Given the description of an element on the screen output the (x, y) to click on. 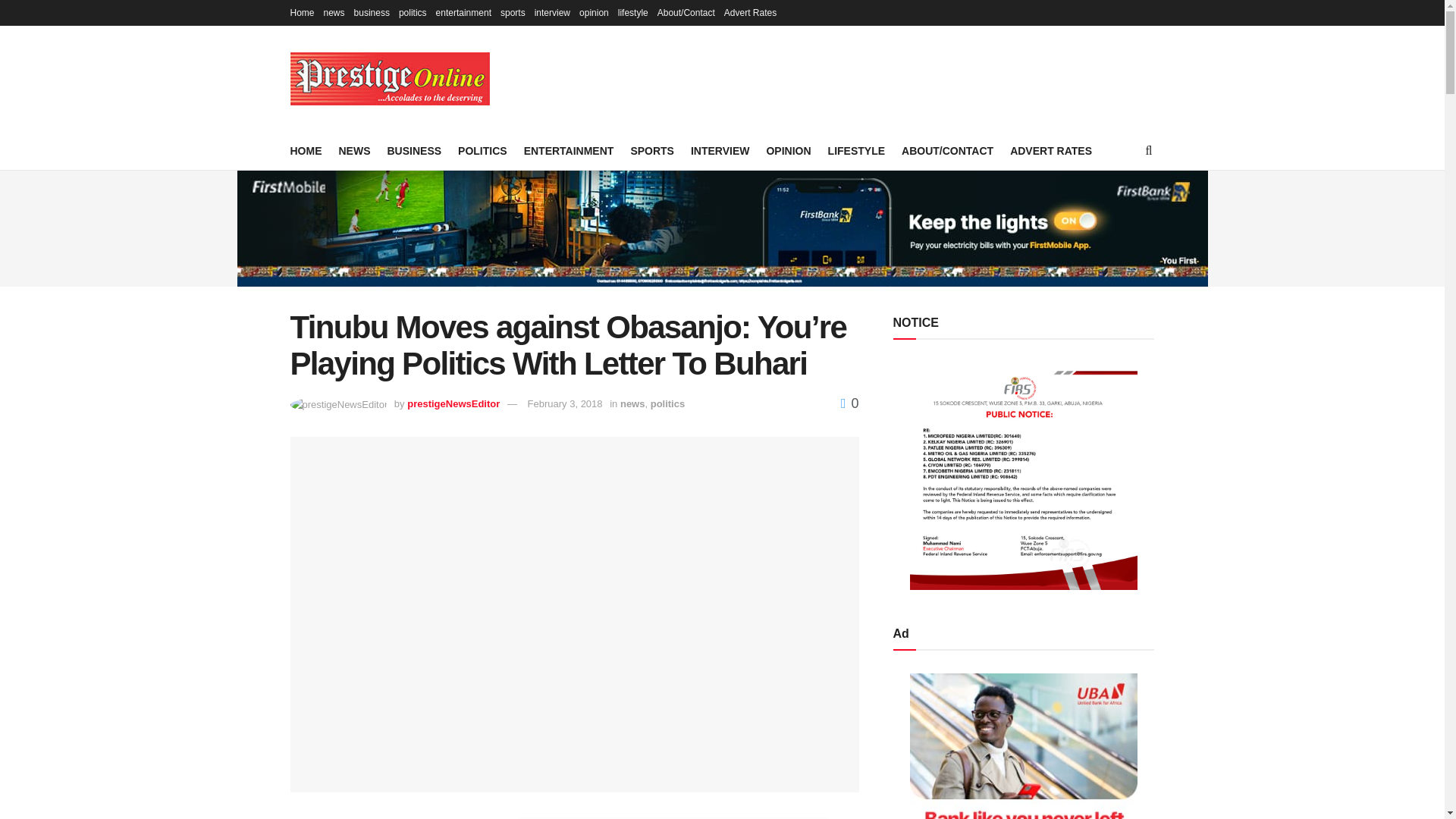
OPINION (787, 150)
BUSINESS (414, 150)
lifestyle (632, 12)
opinion (593, 12)
interview (552, 12)
SPORTS (652, 150)
ENTERTAINMENT (569, 150)
Advert Rates (749, 12)
ADVERT RATES (1051, 150)
POLITICS (482, 150)
